Given the description of an element on the screen output the (x, y) to click on. 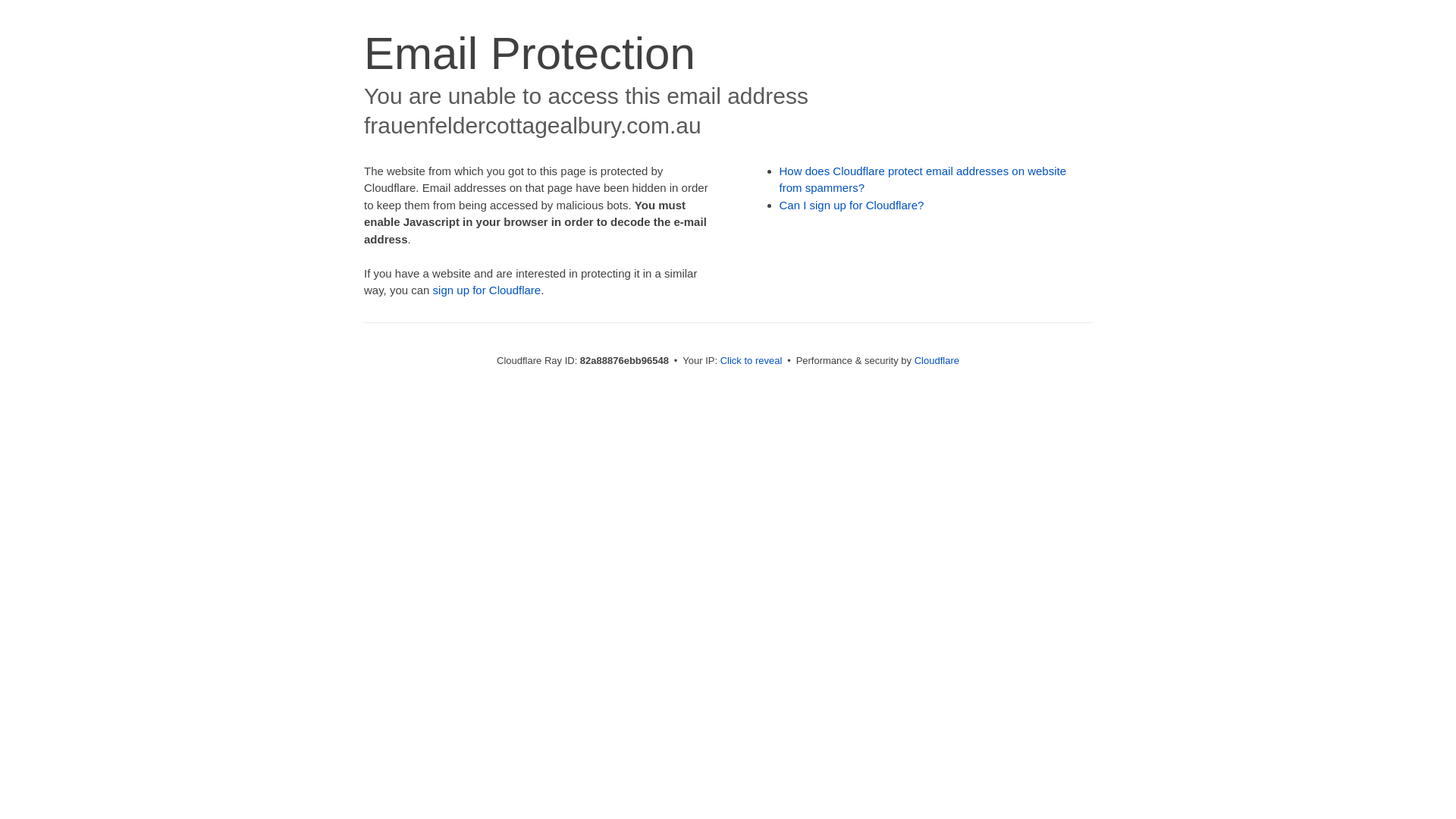
sign up for Cloudflare Element type: text (487, 289)
Can I sign up for Cloudflare? Element type: text (851, 204)
Cloudflare Element type: text (936, 360)
Click to reveal Element type: text (751, 360)
